Given the description of an element on the screen output the (x, y) to click on. 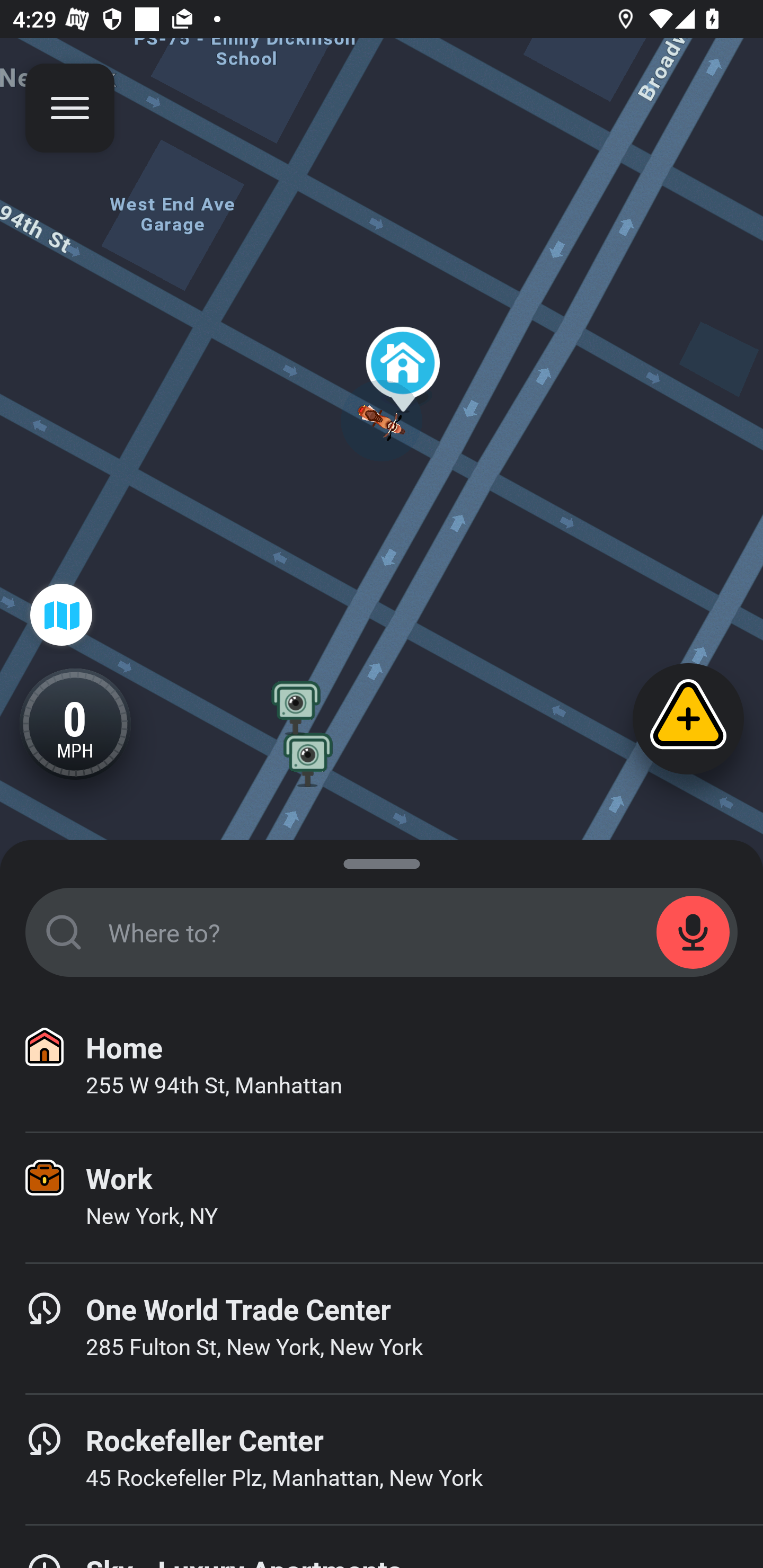
SUGGESTIONS_SHEET_DRAG_HANDLE (381, 860)
START_STATE_SEARCH_FIELD Where to? (381, 931)
Home 255 W 94th St, Manhattan (381, 1066)
Work New York, NY (381, 1197)
